Given the description of an element on the screen output the (x, y) to click on. 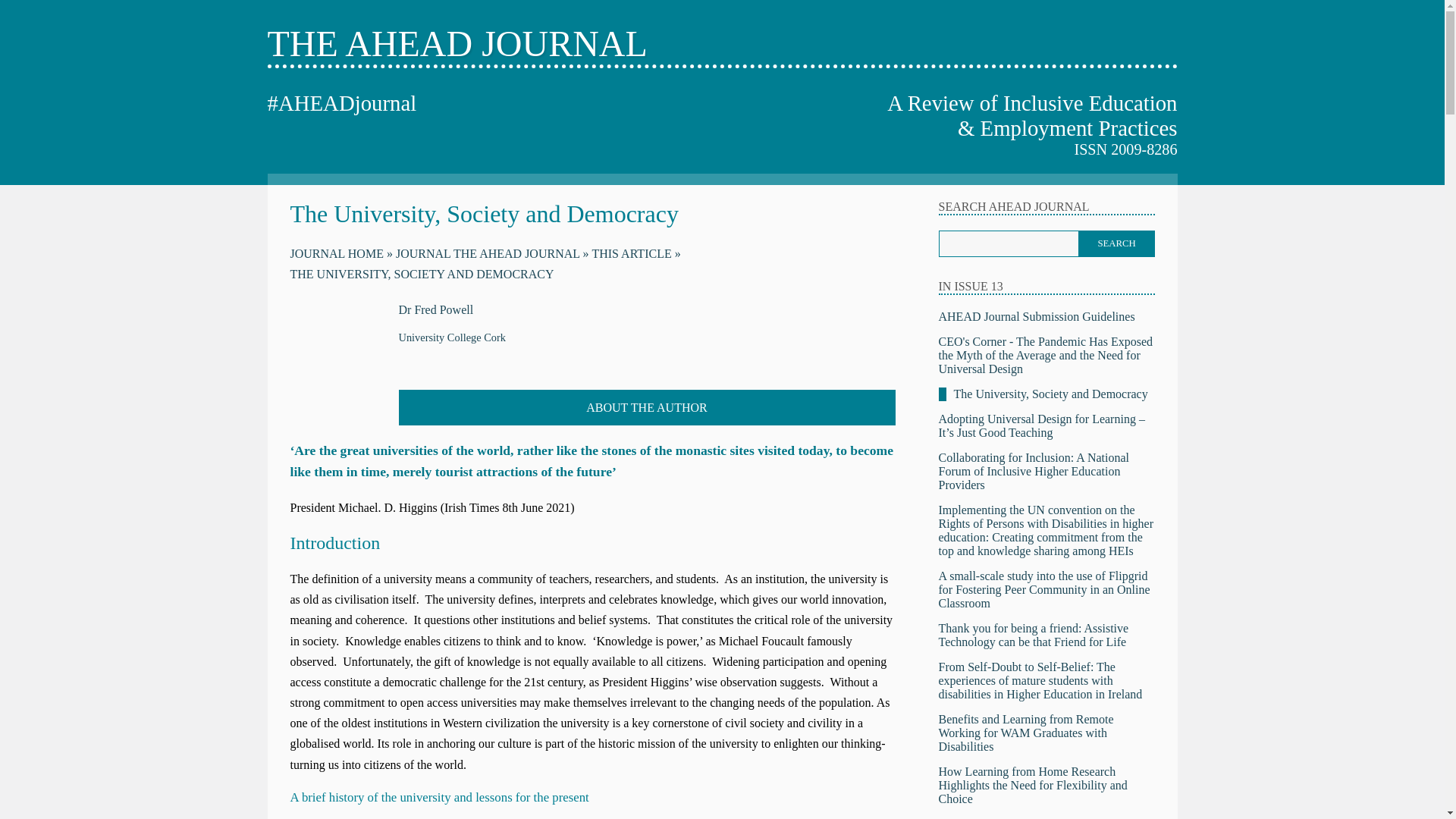
THE UNIVERSITY, SOCIETY AND DEMOCRACY (421, 273)
JOURNAL THE AHEAD JOURNAL (492, 253)
AHEAD Journal Submission Guidelines (1037, 316)
ABOUT THE AUTHOR (646, 407)
